Given the description of an element on the screen output the (x, y) to click on. 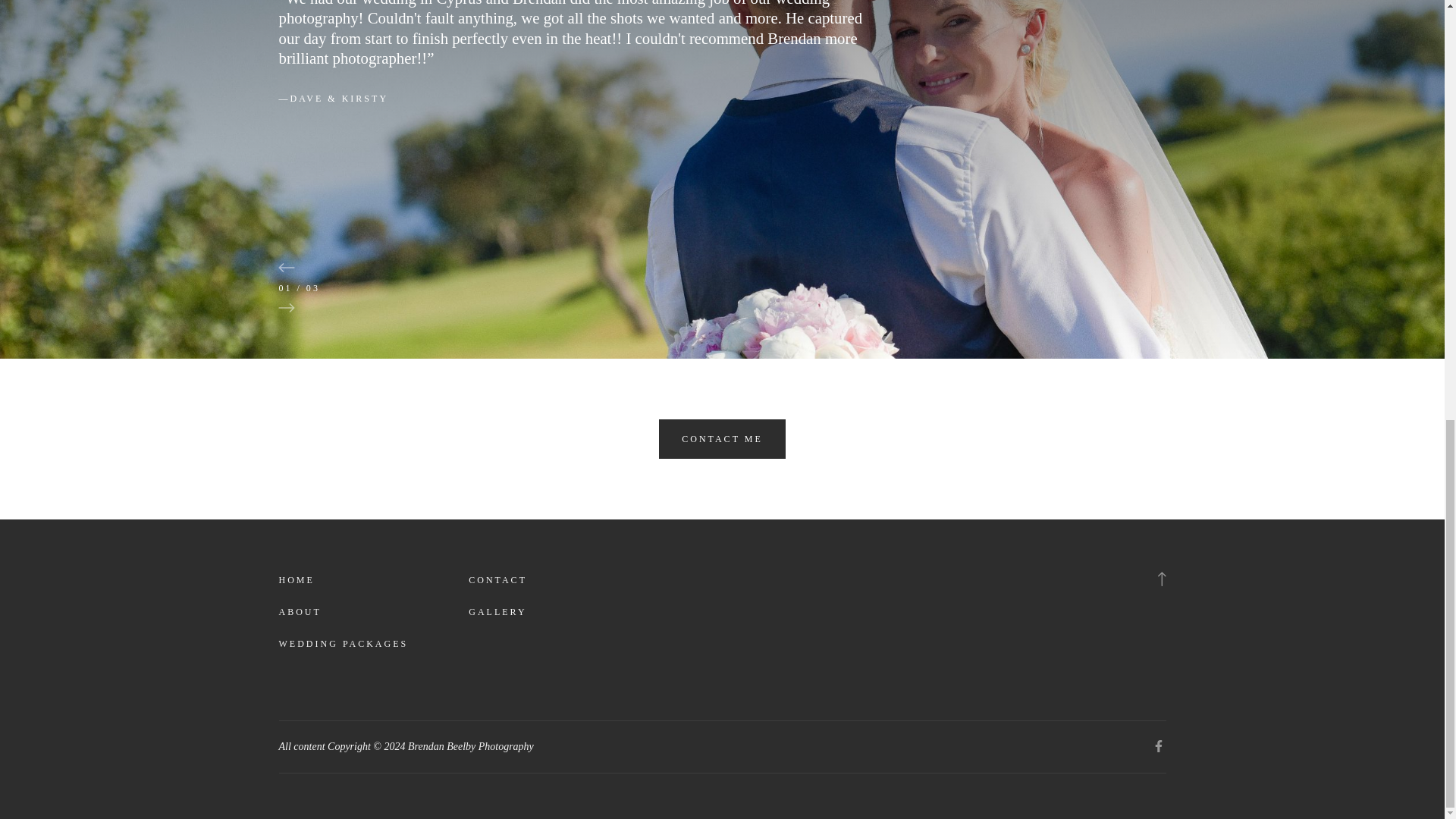
CONTACT (497, 581)
GALLERY (496, 612)
CONTACT ME (722, 438)
HOME (296, 581)
ABOUT (300, 612)
WEDDING PACKAGES (344, 644)
